Given the description of an element on the screen output the (x, y) to click on. 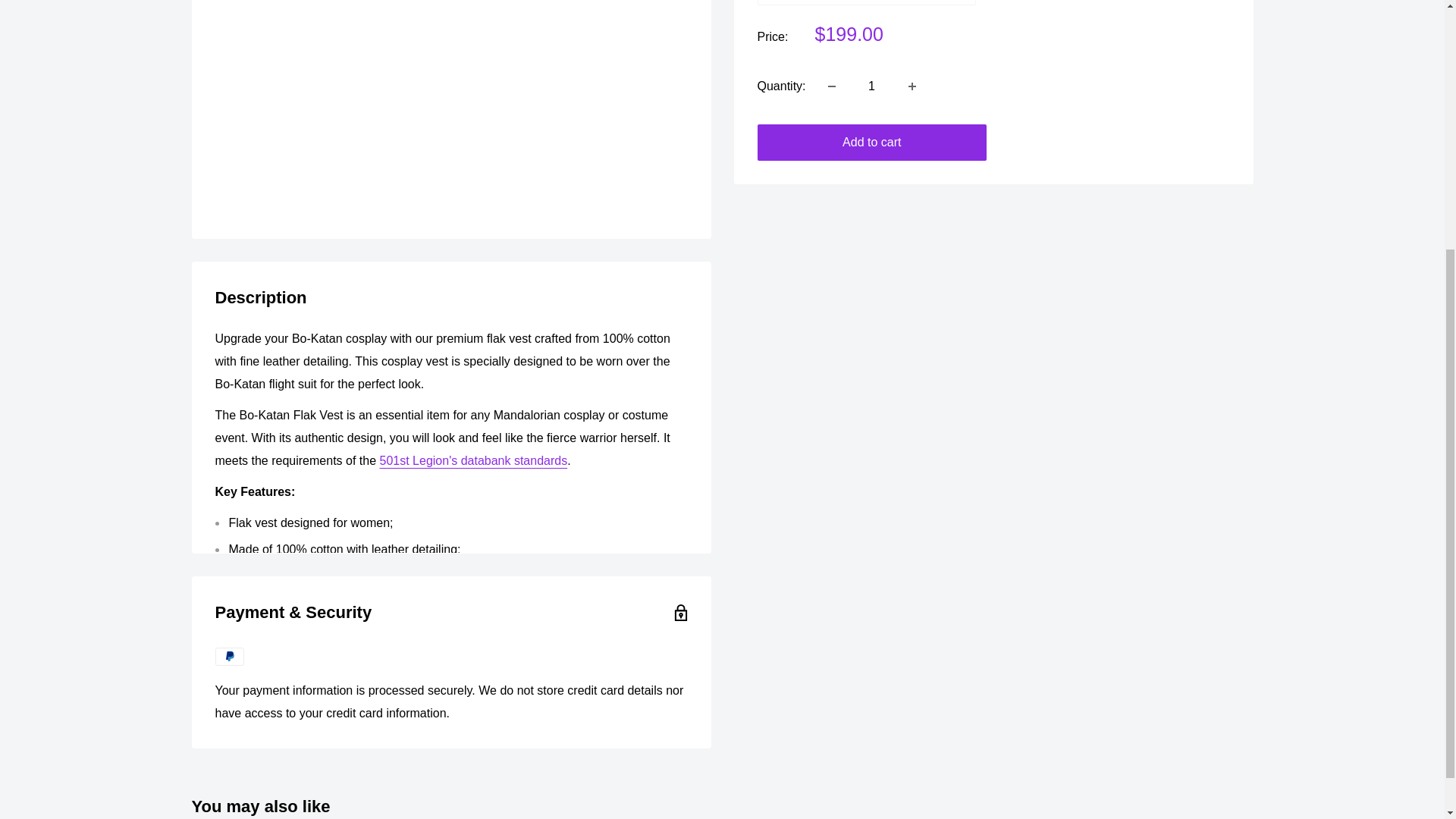
Increase quantity by 1 (912, 86)
Decrease quantity by 1 (831, 86)
Bo Katan Cosplay Costume 501st legion (472, 460)
1 (871, 86)
